Given the description of an element on the screen output the (x, y) to click on. 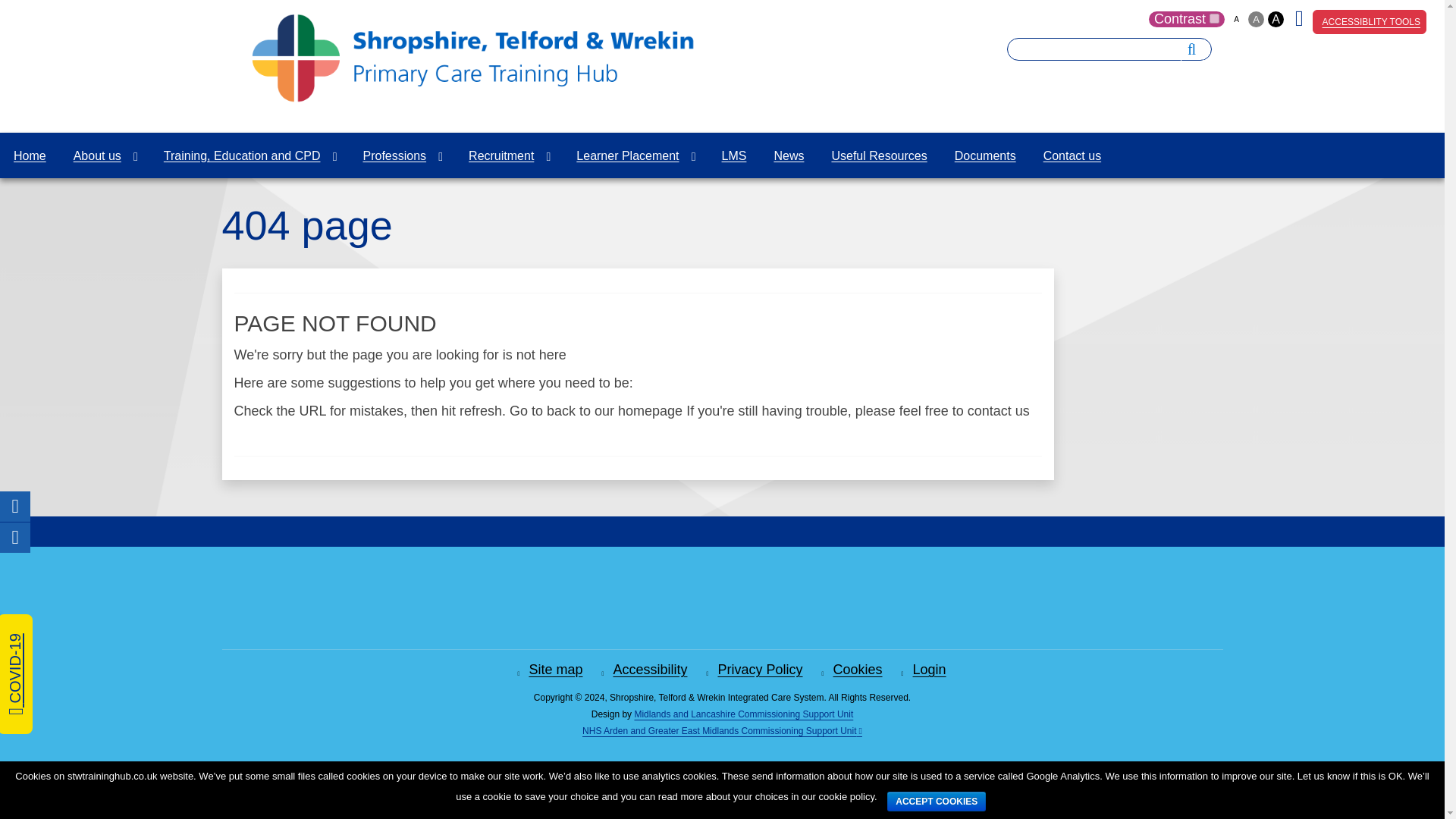
Open accessibility tools (1411, 785)
Home (29, 155)
COVID-19 (58, 631)
About us (104, 155)
on (1214, 18)
Reset (3, 2)
ACCESSIBLITY TOOLS (1369, 21)
Go to homepage (471, 97)
Link to Twitter page (1301, 22)
